Given the description of an element on the screen output the (x, y) to click on. 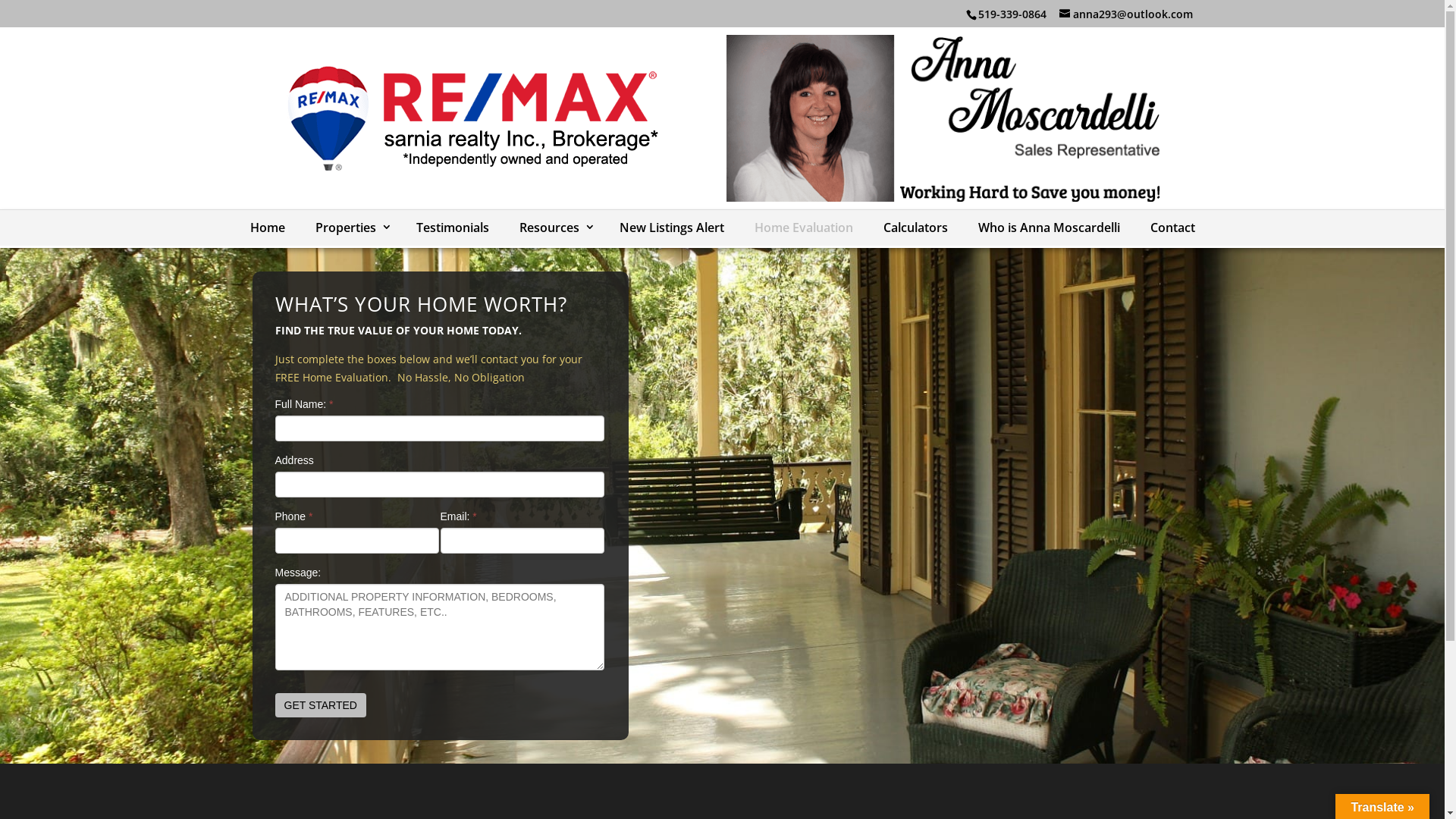
Contact Element type: text (1171, 227)
Properties Element type: text (350, 227)
Testimonials Element type: text (451, 227)
New Listings Alert Element type: text (671, 227)
519-339-0864 Element type: text (1012, 13)
Home Evaluation Element type: text (803, 227)
Calculators Element type: text (914, 227)
Home Element type: text (267, 227)
GET STARTED Element type: text (319, 705)
Resources Element type: text (553, 227)
anna293@outlook.com Element type: text (1125, 13)
Who is Anna Moscardelli Element type: text (1048, 227)
